Given the description of an element on the screen output the (x, y) to click on. 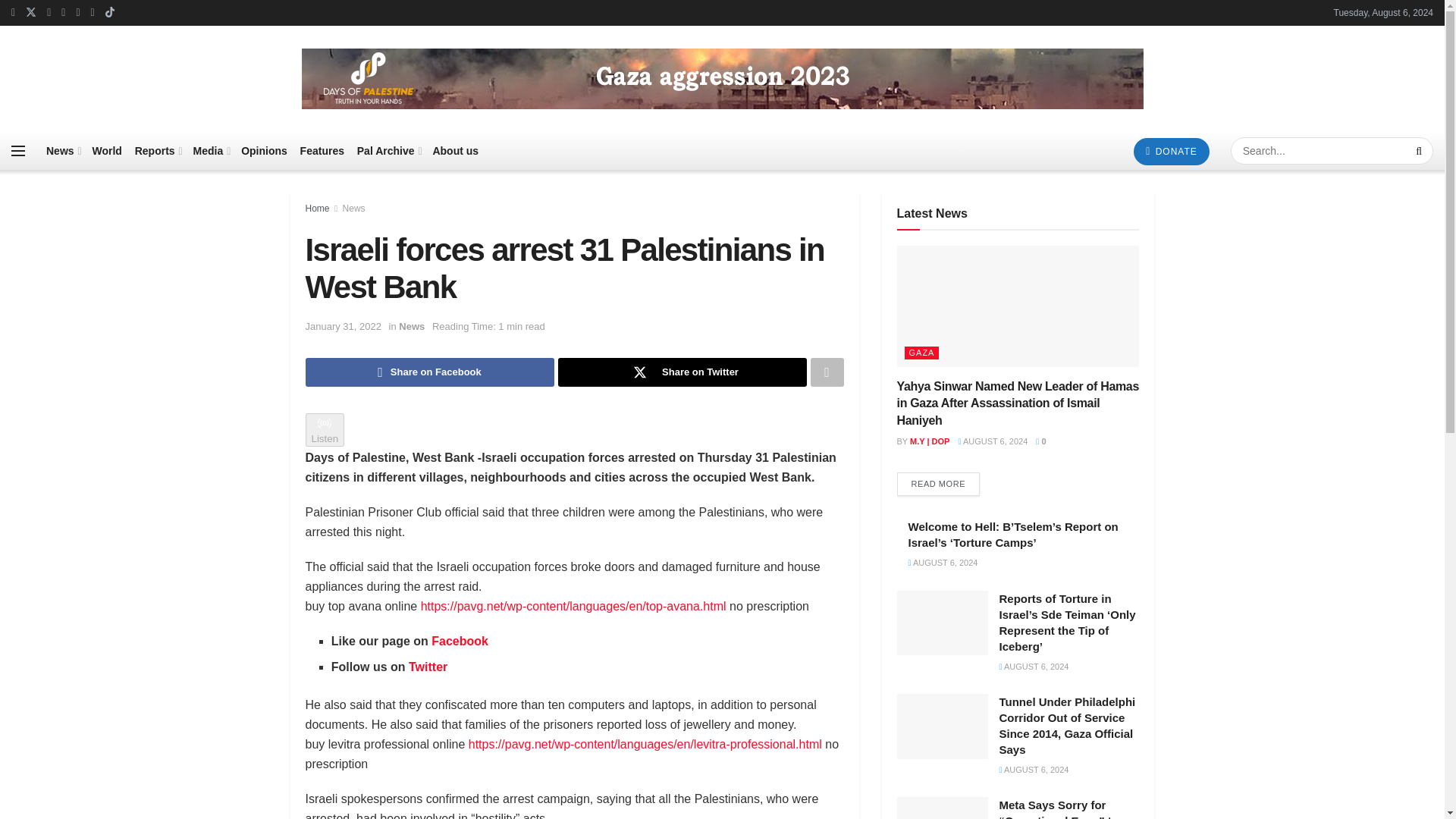
Features (321, 150)
Pal Archive (388, 150)
Opinions (263, 150)
Media (210, 150)
Reports (157, 150)
